Given the description of an element on the screen output the (x, y) to click on. 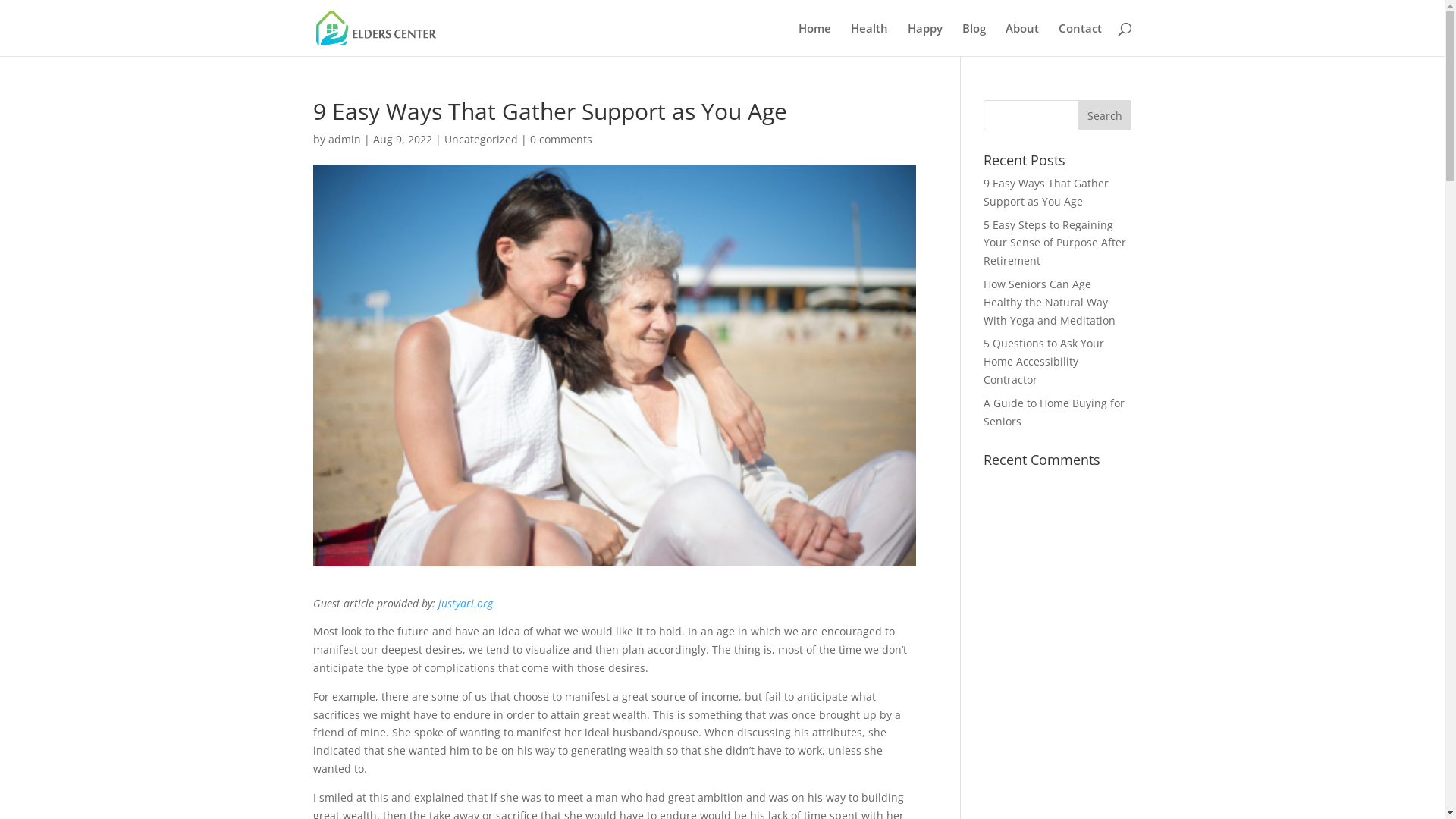
Contact Element type: text (1079, 39)
Search Element type: text (1104, 115)
Happy Element type: text (923, 39)
admin Element type: text (343, 138)
9 Easy Ways That Gather Support as You Age Element type: text (1045, 191)
About Element type: text (1021, 39)
justyari.org Element type: text (465, 603)
Blog Element type: text (973, 39)
Home Element type: text (813, 39)
5 Questions to Ask Your Home Accessibility Contractor Element type: text (1043, 360)
A Guide to Home Buying for Seniors Element type: text (1053, 411)
Uncategorized Element type: text (480, 138)
0 comments Element type: text (560, 138)
Health Element type: text (869, 39)
